Given the description of an element on the screen output the (x, y) to click on. 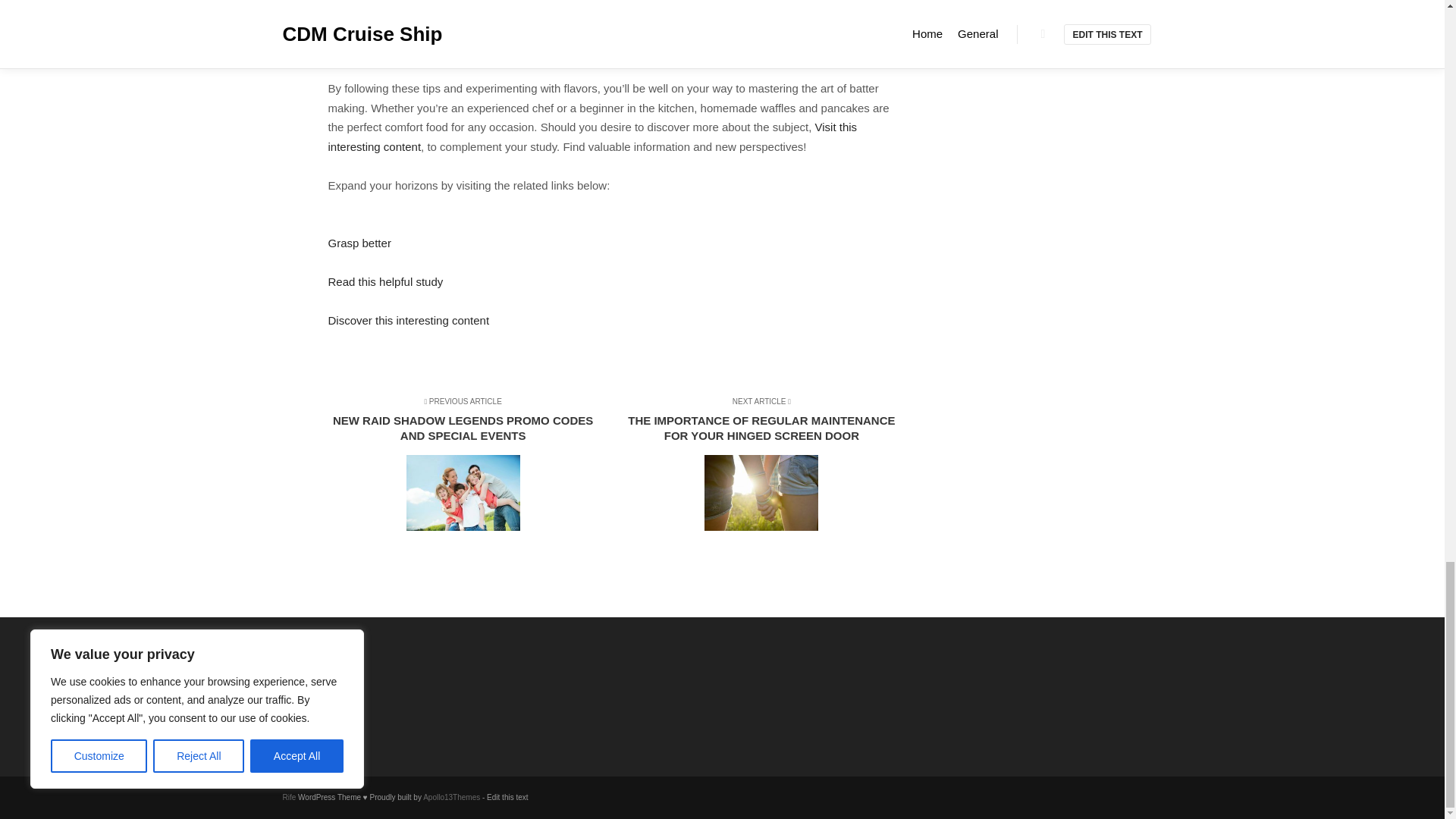
Discover this interesting content (408, 319)
Grasp better (358, 242)
Read this helpful study (384, 281)
Visit this interesting content (592, 136)
